Given the description of an element on the screen output the (x, y) to click on. 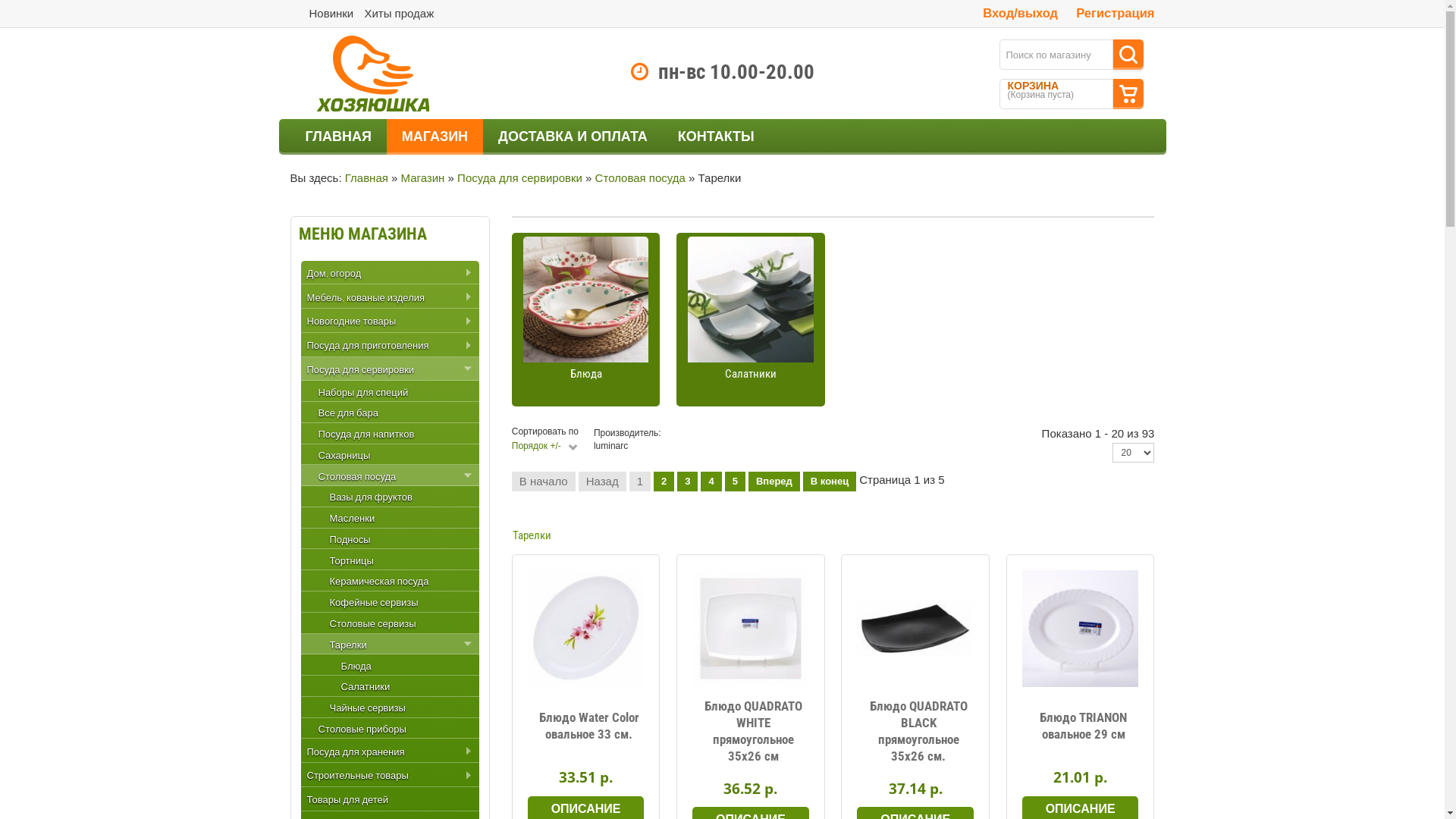
3 Element type: text (687, 481)
5 Element type: text (734, 481)
2 Element type: text (663, 481)
4 Element type: text (710, 481)
